Given the description of an element on the screen output the (x, y) to click on. 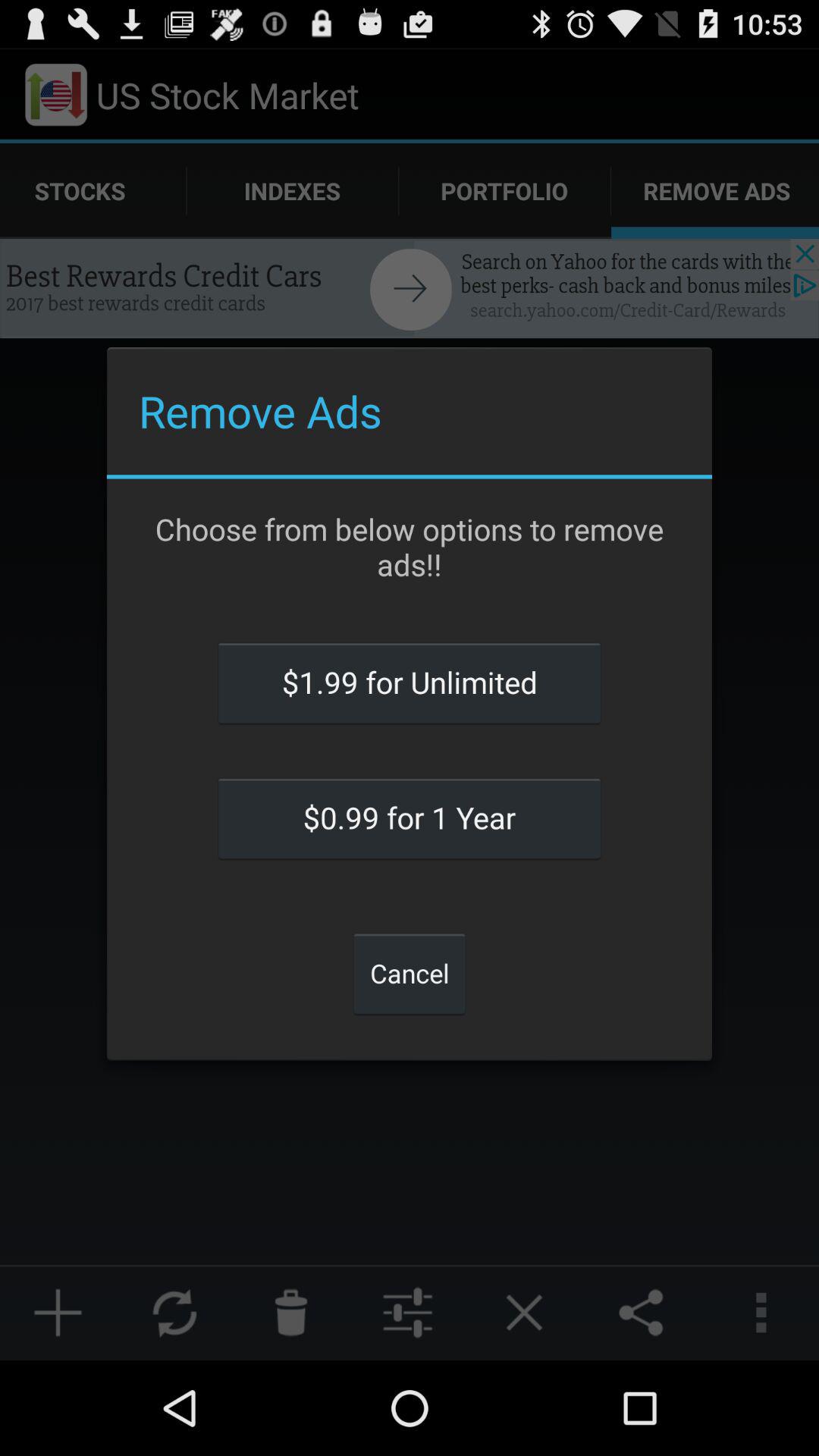
tap button at the bottom (409, 972)
